Given the description of an element on the screen output the (x, y) to click on. 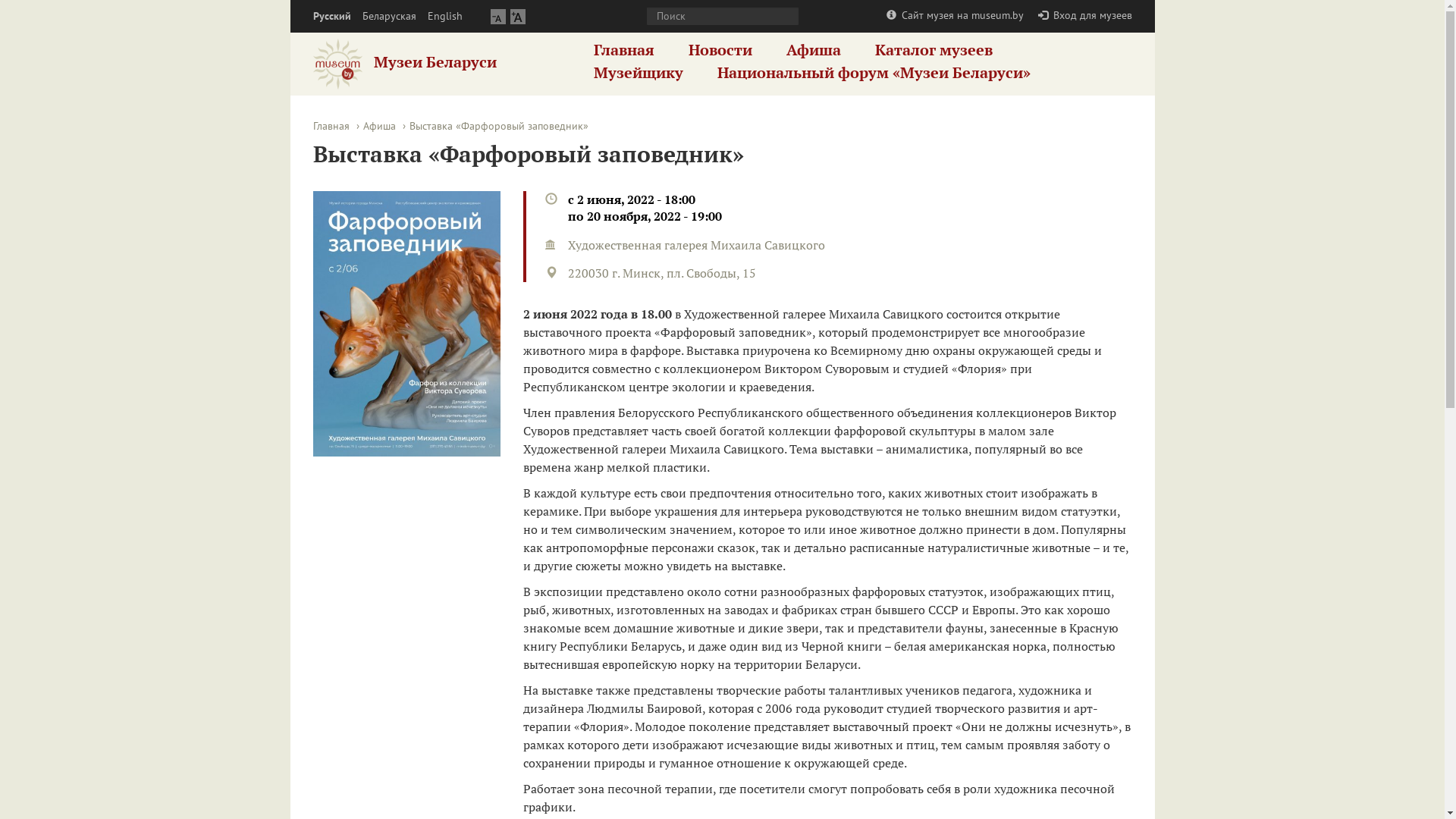
A Element type: text (516, 16)
English Element type: text (444, 16)
A Element type: text (497, 16)
